Given the description of an element on the screen output the (x, y) to click on. 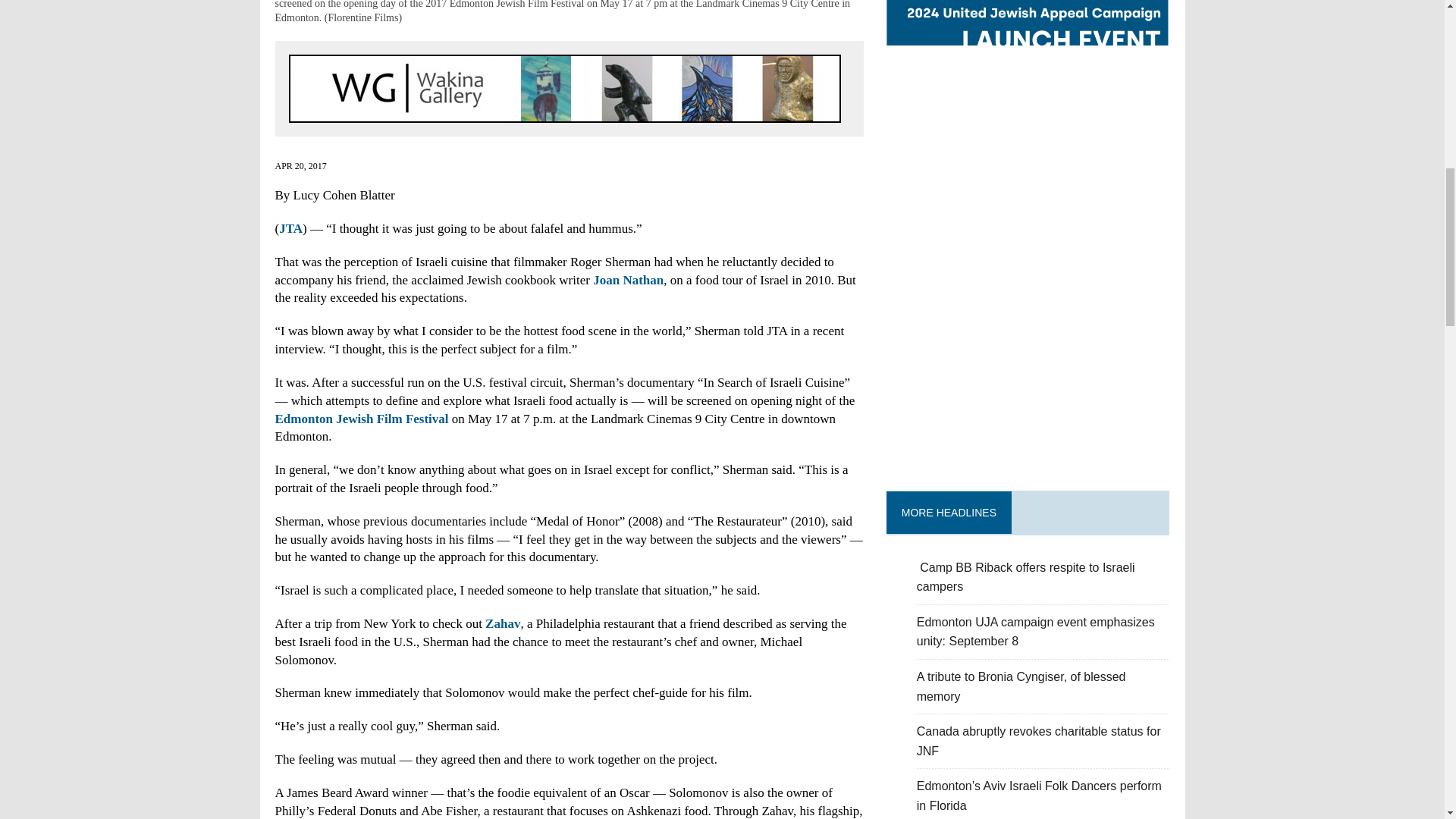
Joan Nathan (627, 279)
JTA (290, 228)
Canada abruptly revokes charitable status for JNF (1038, 740)
Edmonton UJA campaign event emphasizes unity: September 8 (1035, 631)
Edmonton Jewish Film Festival (363, 418)
A tribute to Bronia Cyngiser, of blessed memory (1021, 686)
